Given the description of an element on the screen output the (x, y) to click on. 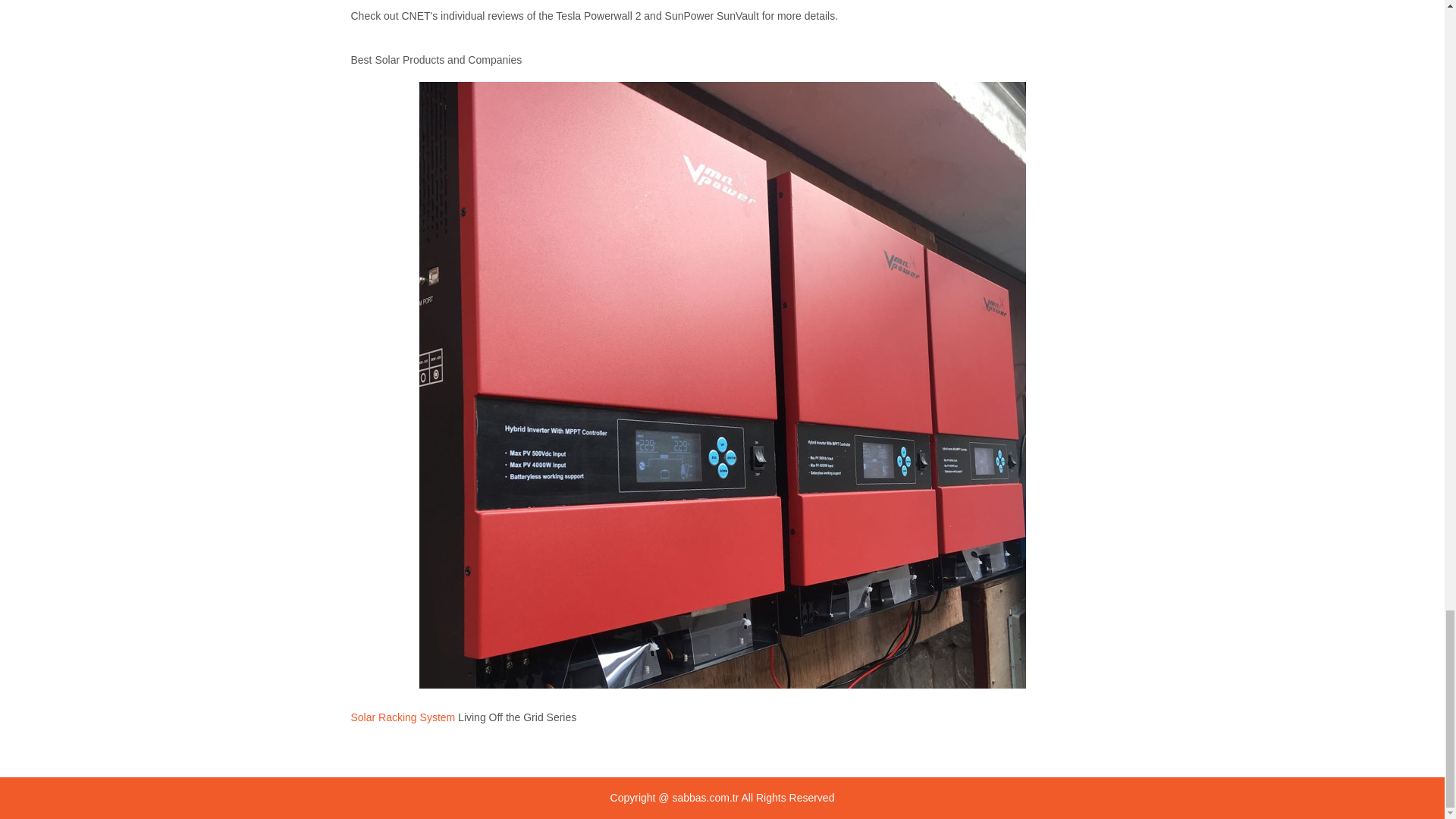
Solar Racking System (402, 717)
